Given the description of an element on the screen output the (x, y) to click on. 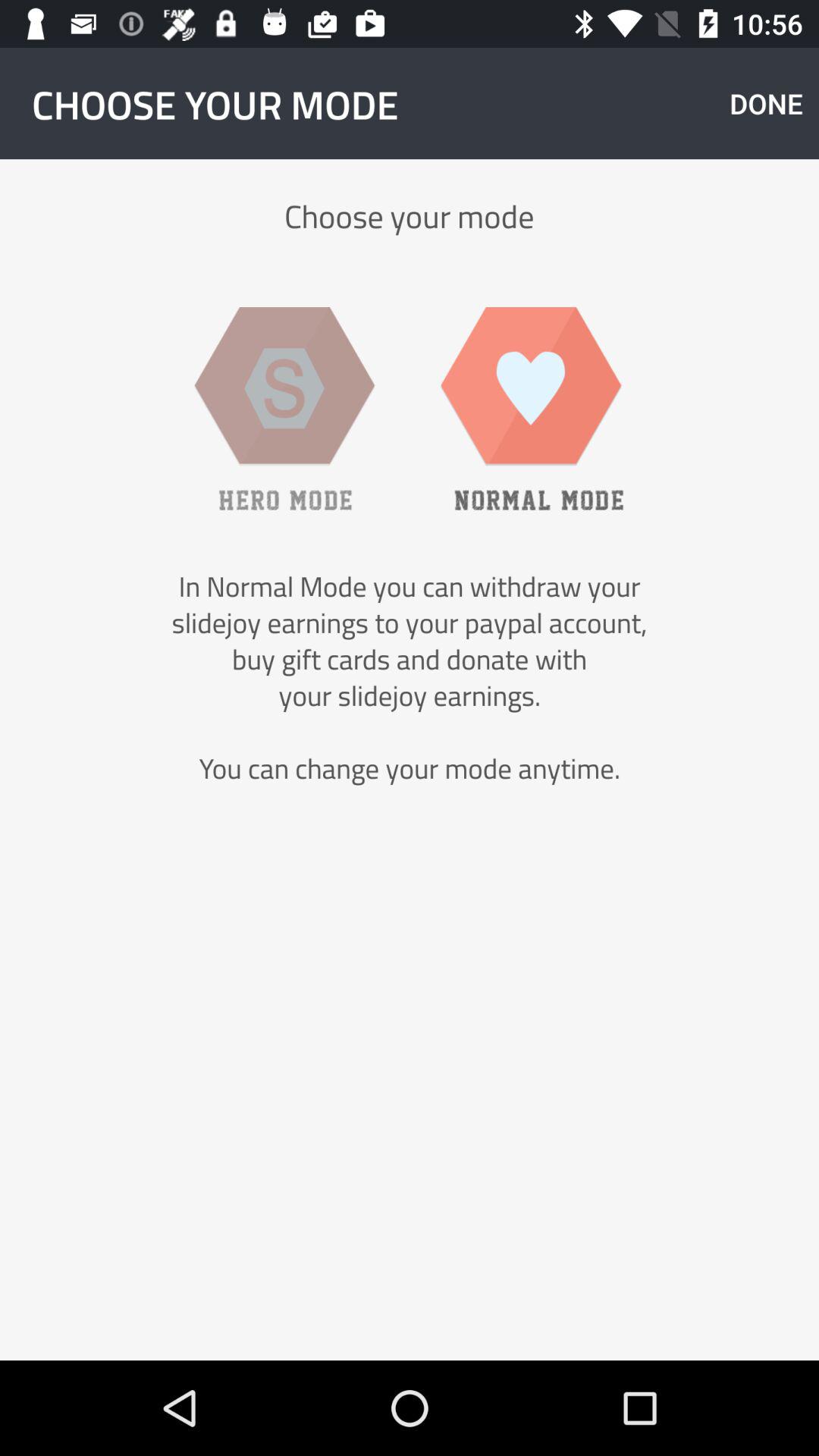
open done item (766, 103)
